Given the description of an element on the screen output the (x, y) to click on. 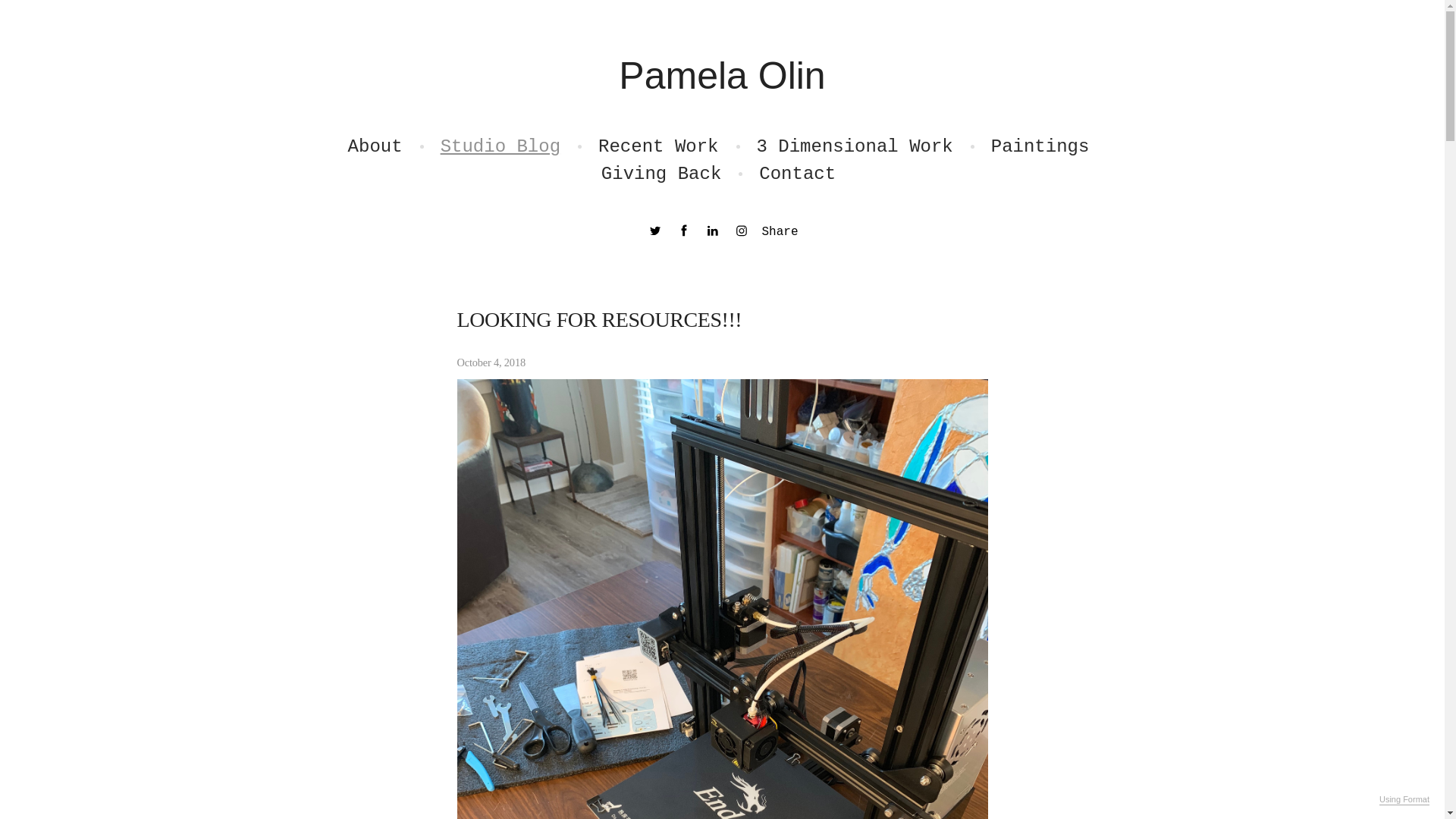
Contact (796, 173)
October 4, 2018 (722, 361)
Paintings (1040, 146)
LOOKING FOR RESOURCES!!! (599, 319)
Recent Work (657, 146)
Share (779, 232)
About (375, 146)
Pamela Olin (721, 75)
Studio Blog (500, 146)
3 Dimensional Work (855, 146)
Giving Back (660, 173)
